Given the description of an element on the screen output the (x, y) to click on. 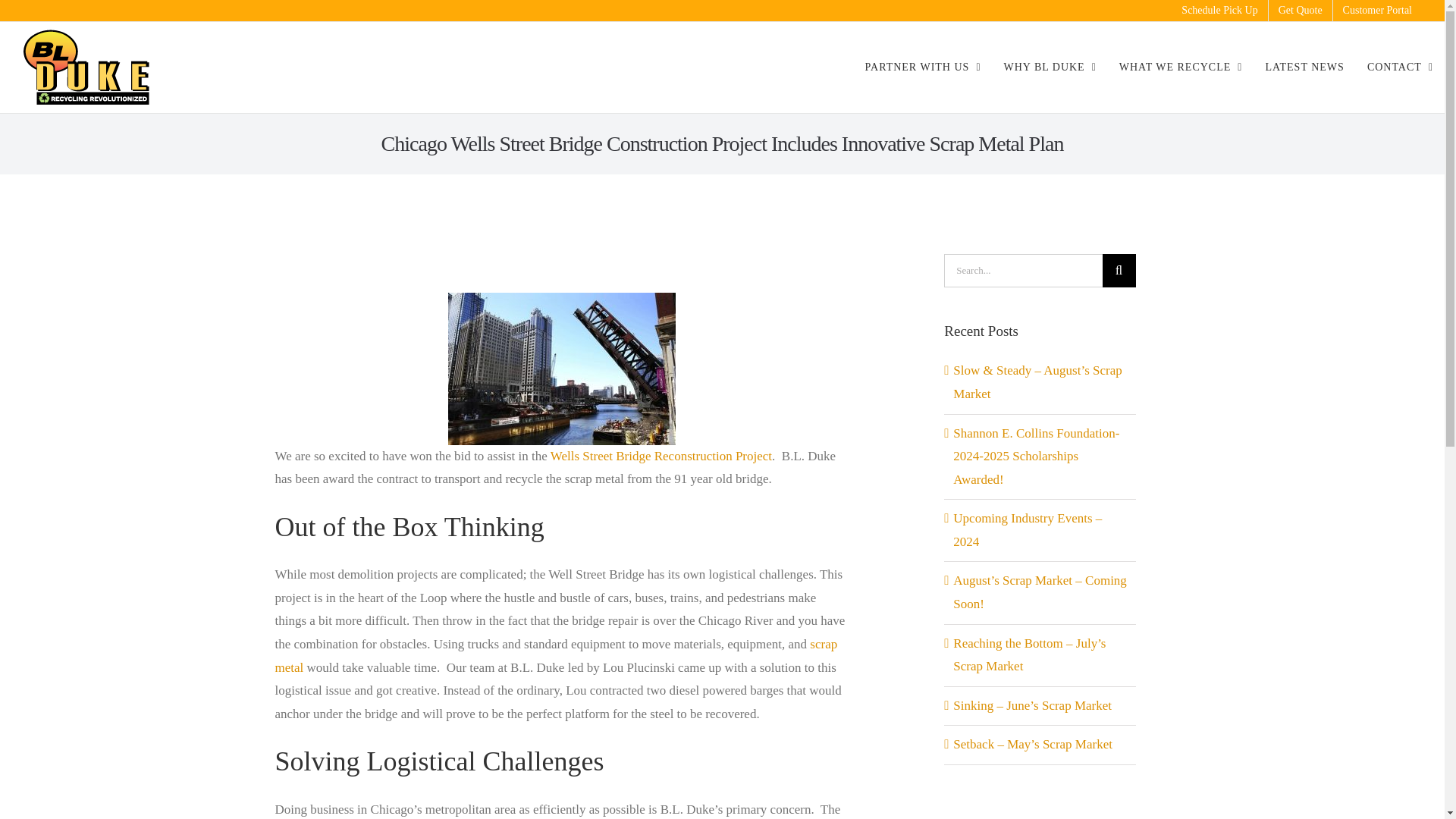
Schedule Pick Up (1219, 10)
LATEST NEWS (1304, 67)
Why Partner with BL Duke (1048, 67)
WHAT WE RECYCLE (1180, 67)
Metal Recycling News (1304, 67)
WHY BL DUKE (1048, 67)
PARTNER WITH US (922, 67)
Partner with BL Duke (922, 67)
Scrap Metal Recycling in Chicago (1180, 67)
Customer Portal (1377, 10)
